Given the description of an element on the screen output the (x, y) to click on. 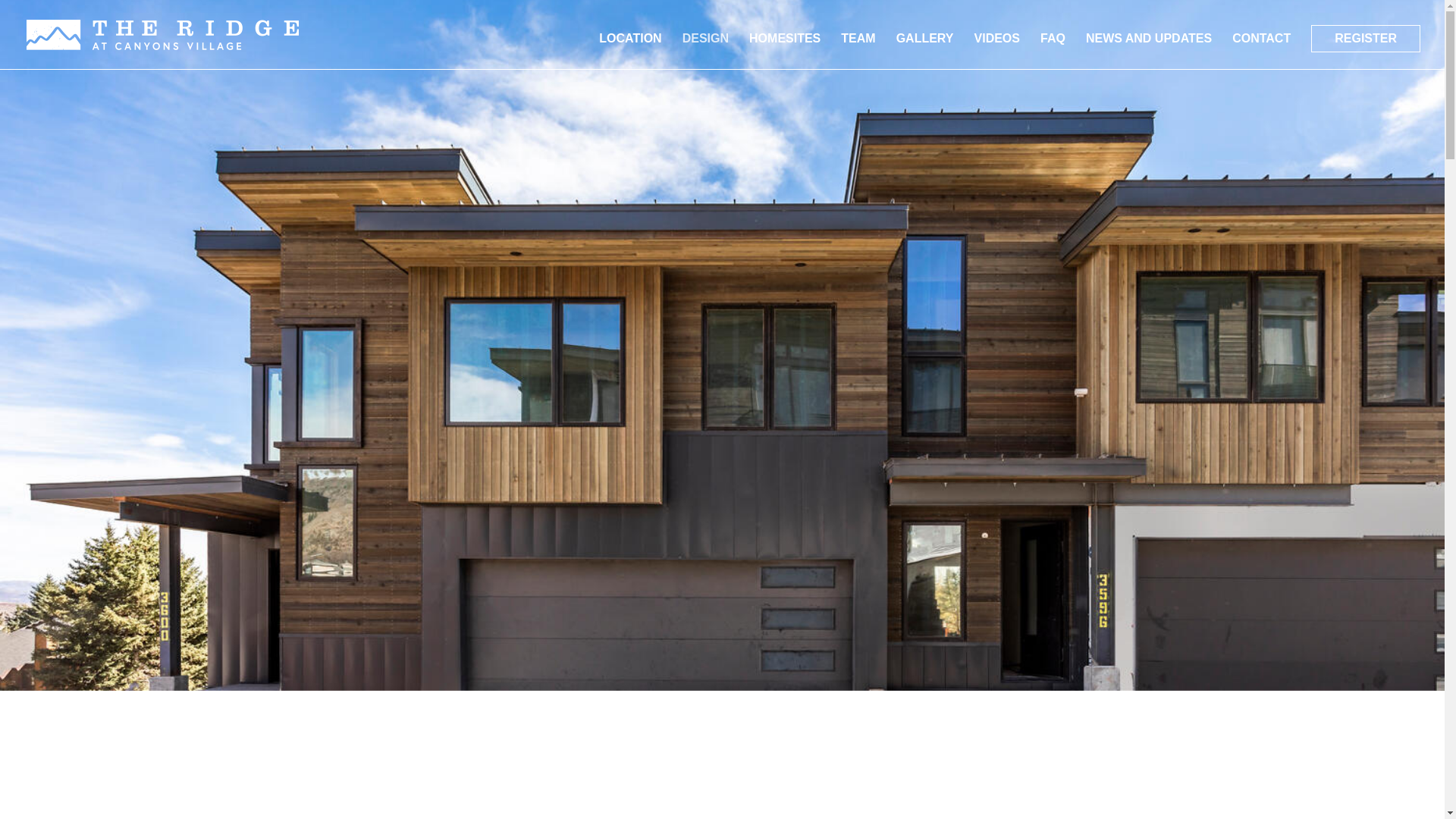
LOCATION (629, 50)
GALLERY (924, 50)
HOMESITES (785, 50)
REGISTER (1366, 38)
TEAM (858, 50)
VIDEOS (997, 50)
CONTACT (1260, 50)
NEWS AND UPDATES (1148, 50)
DESIGN (705, 50)
